Given the description of an element on the screen output the (x, y) to click on. 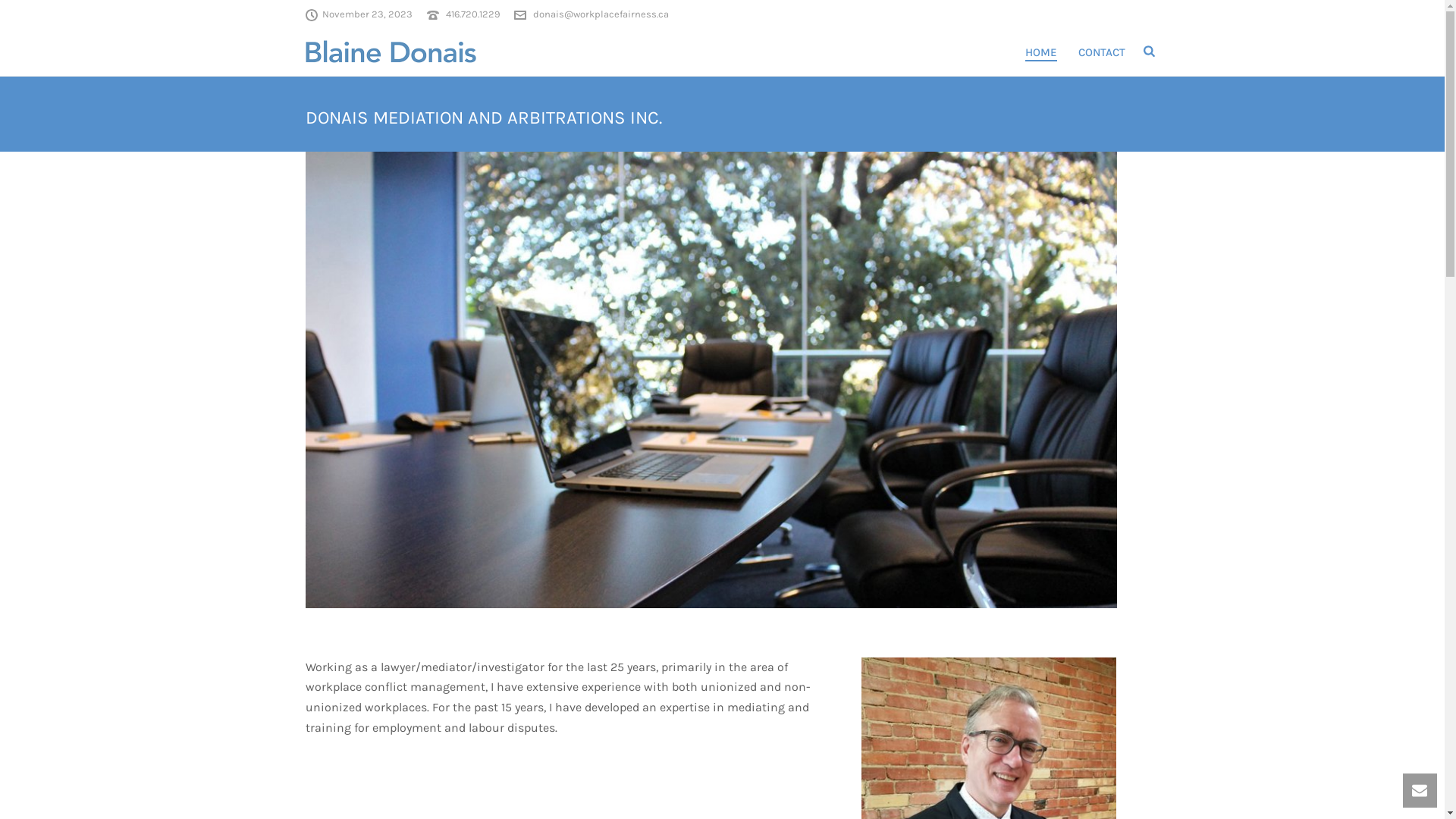
CONTACT Element type: text (1101, 52)
416.720.1229 Element type: text (472, 13)
HOME Element type: text (1040, 52)
donais@workplacefairness.ca Element type: text (600, 13)
Blaine Donais Element type: hover (389, 50)
